Given the description of an element on the screen output the (x, y) to click on. 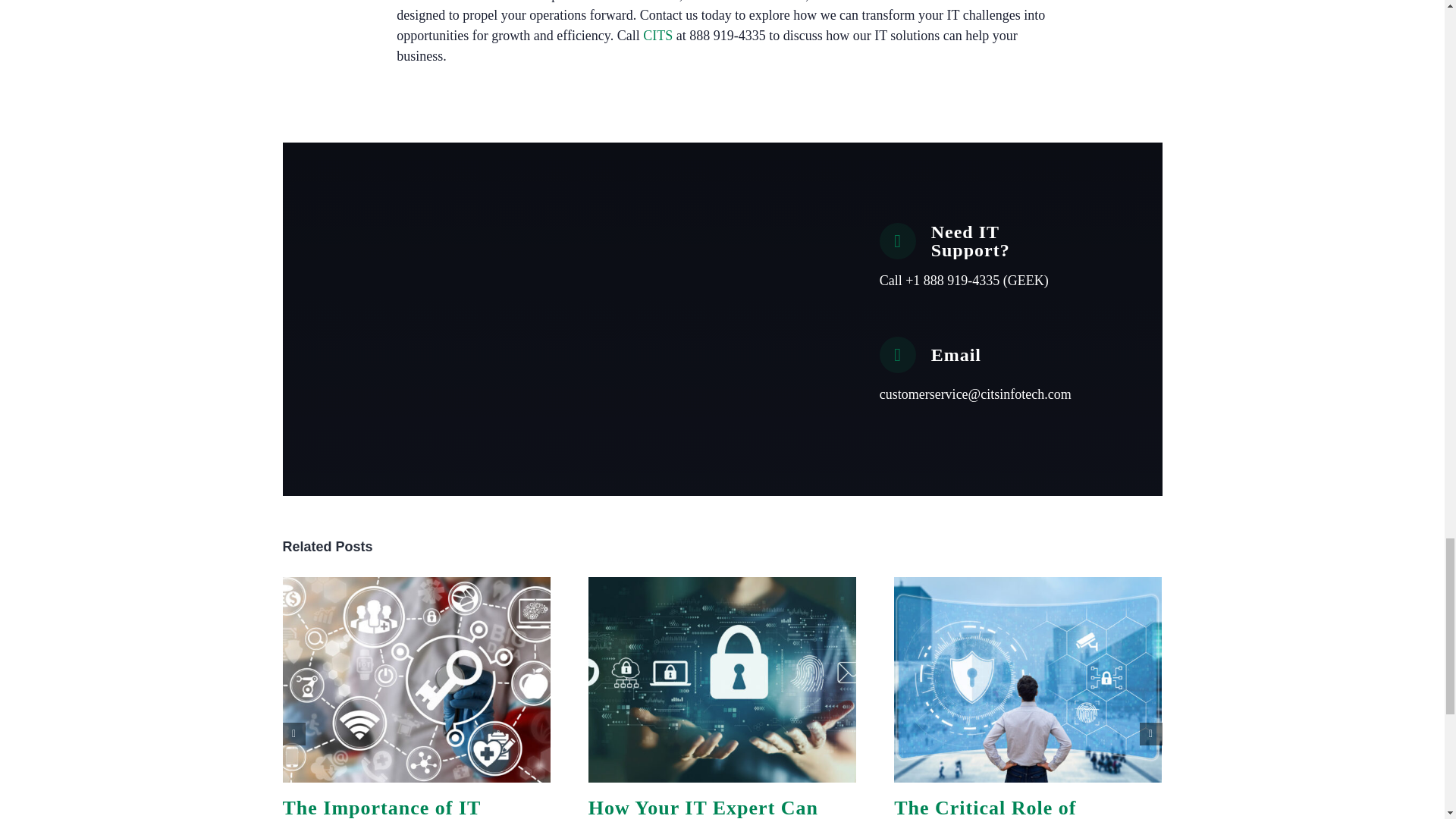
How Your IT Expert Can Help Safeguard Your Business (703, 807)
The Importance of IT Disaster Planning for Dentists (381, 807)
